Given the description of an element on the screen output the (x, y) to click on. 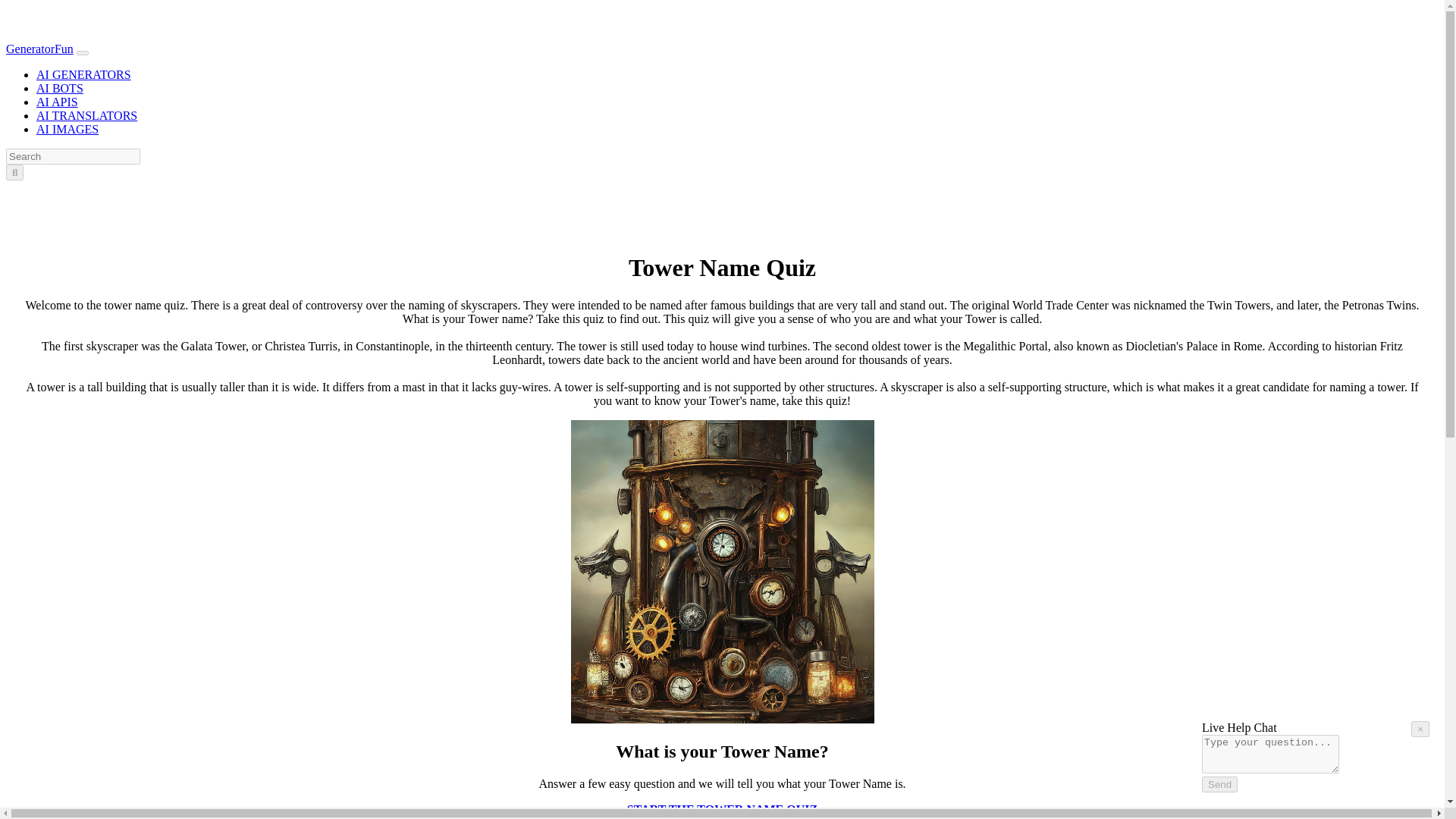
AI TRANSLATORS (86, 115)
Join (90, 190)
AI APIS (57, 101)
AI IMAGES (67, 128)
AI GENERATORS (83, 74)
Send (1219, 784)
GeneratorFun (39, 48)
 Help  (1408, 778)
Login (61, 190)
AI BOTS (59, 88)
START THE TOWER NAME QUIZ (722, 808)
